Given the description of an element on the screen output the (x, y) to click on. 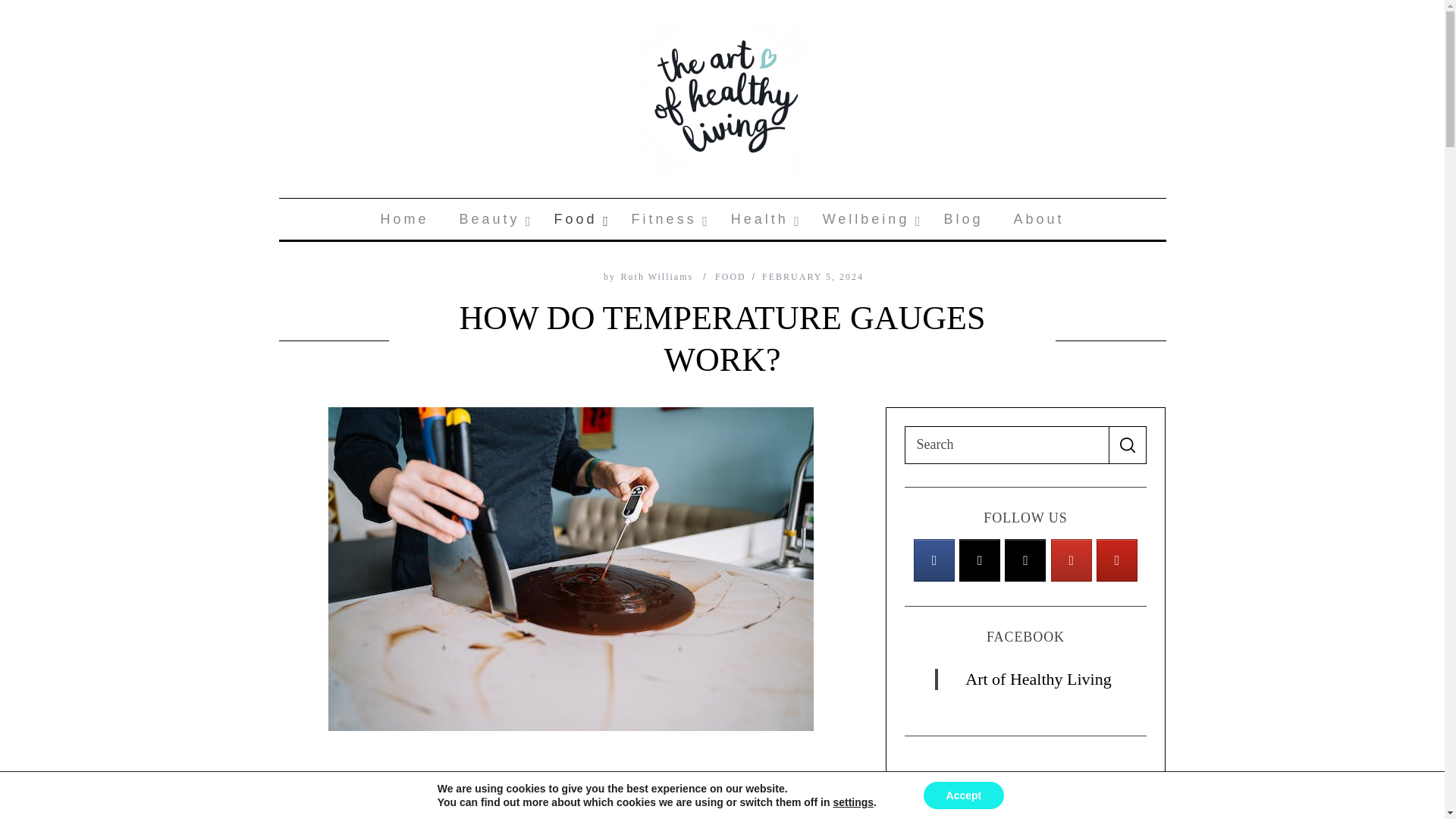
Home (404, 219)
The Art of Healthy Living on Facebook (934, 559)
Fitness (665, 219)
The Art of Healthy Living on Youtube (1071, 559)
Food (576, 219)
Beauty (722, 219)
The Art of Healthy Living on X Twitter (491, 219)
The Art of Healthy Living on Pinterest (979, 559)
The Art of Healthy Living on Instagram (1116, 559)
